Given the description of an element on the screen output the (x, y) to click on. 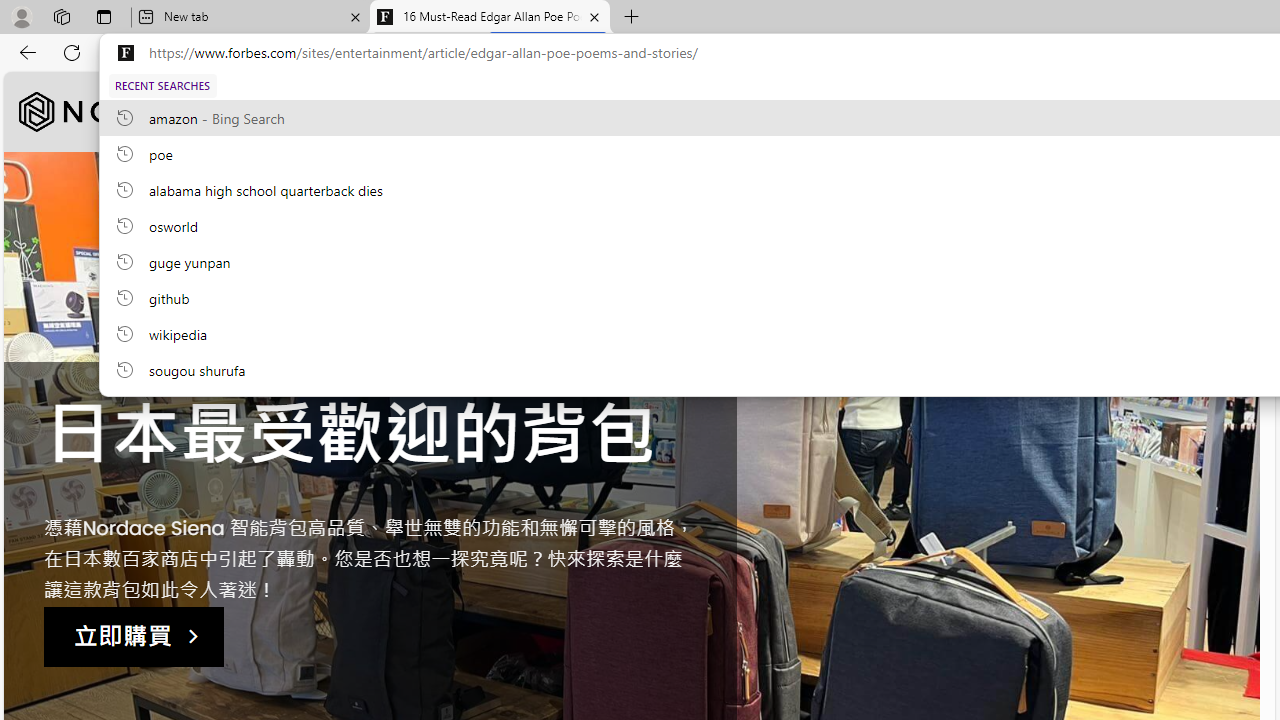
16 Must-Read Edgar Allan Poe Poems And Short Stories (490, 17)
